Given the description of an element on the screen output the (x, y) to click on. 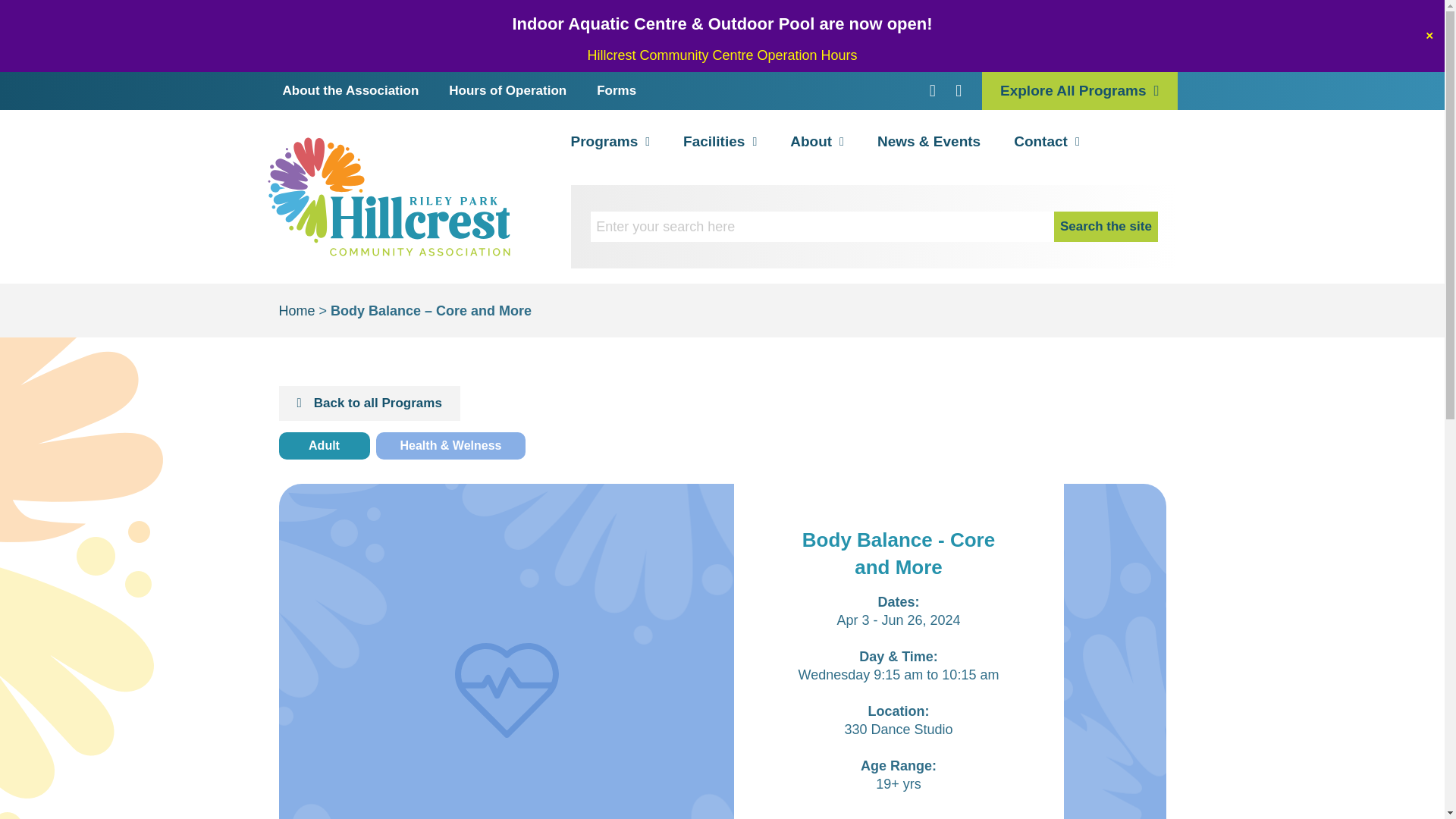
About the Association (349, 90)
Forms (615, 90)
Contact (1046, 141)
About (817, 141)
Hours of Operation (506, 90)
Home (297, 310)
Facilities (719, 141)
Explore All Programs (1078, 90)
Programs (609, 141)
Hillcrest Community Centre Operation Hours (721, 55)
